Given the description of an element on the screen output the (x, y) to click on. 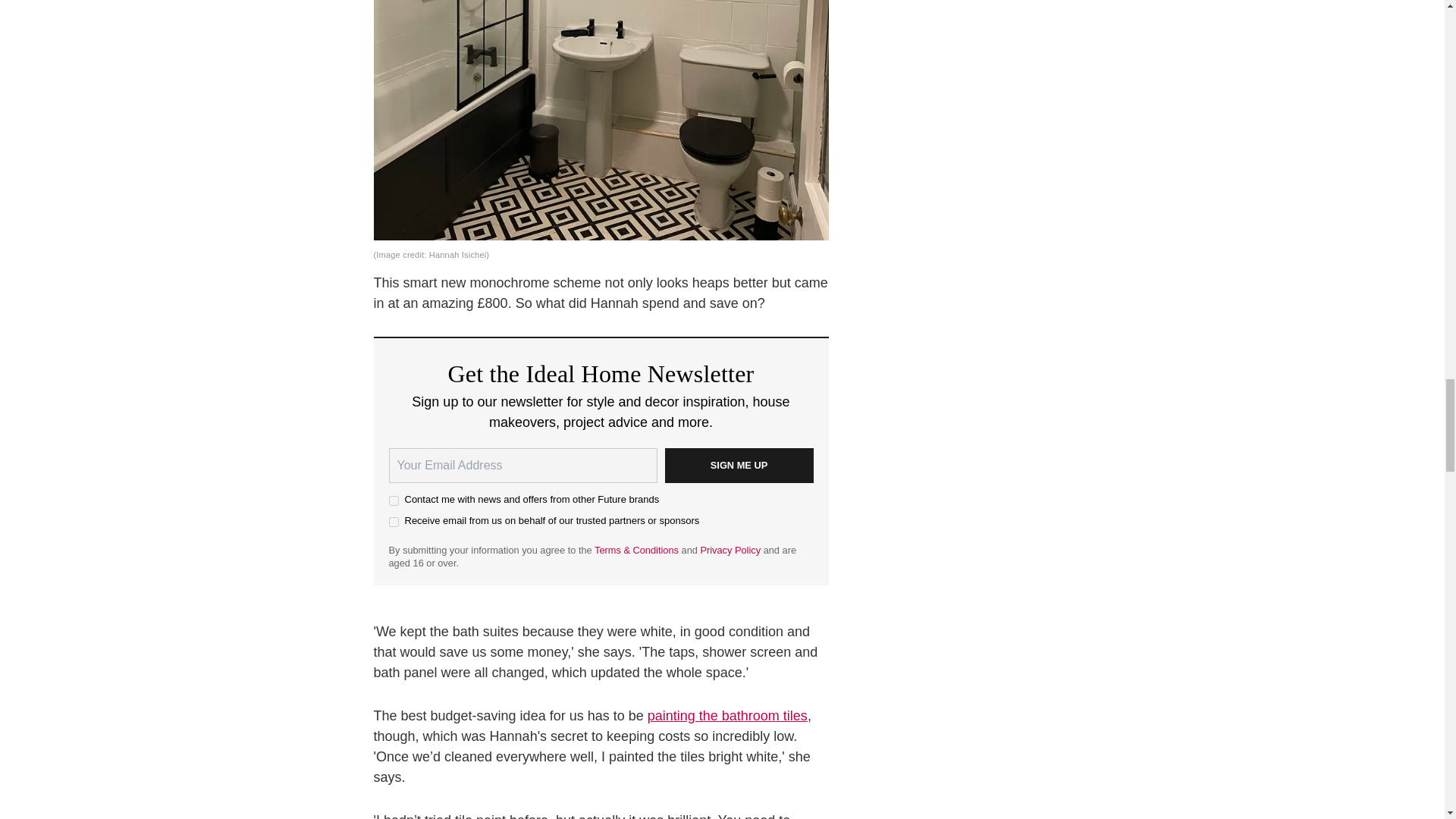
on (392, 521)
Sign me up (737, 465)
on (392, 501)
